Given the description of an element on the screen output the (x, y) to click on. 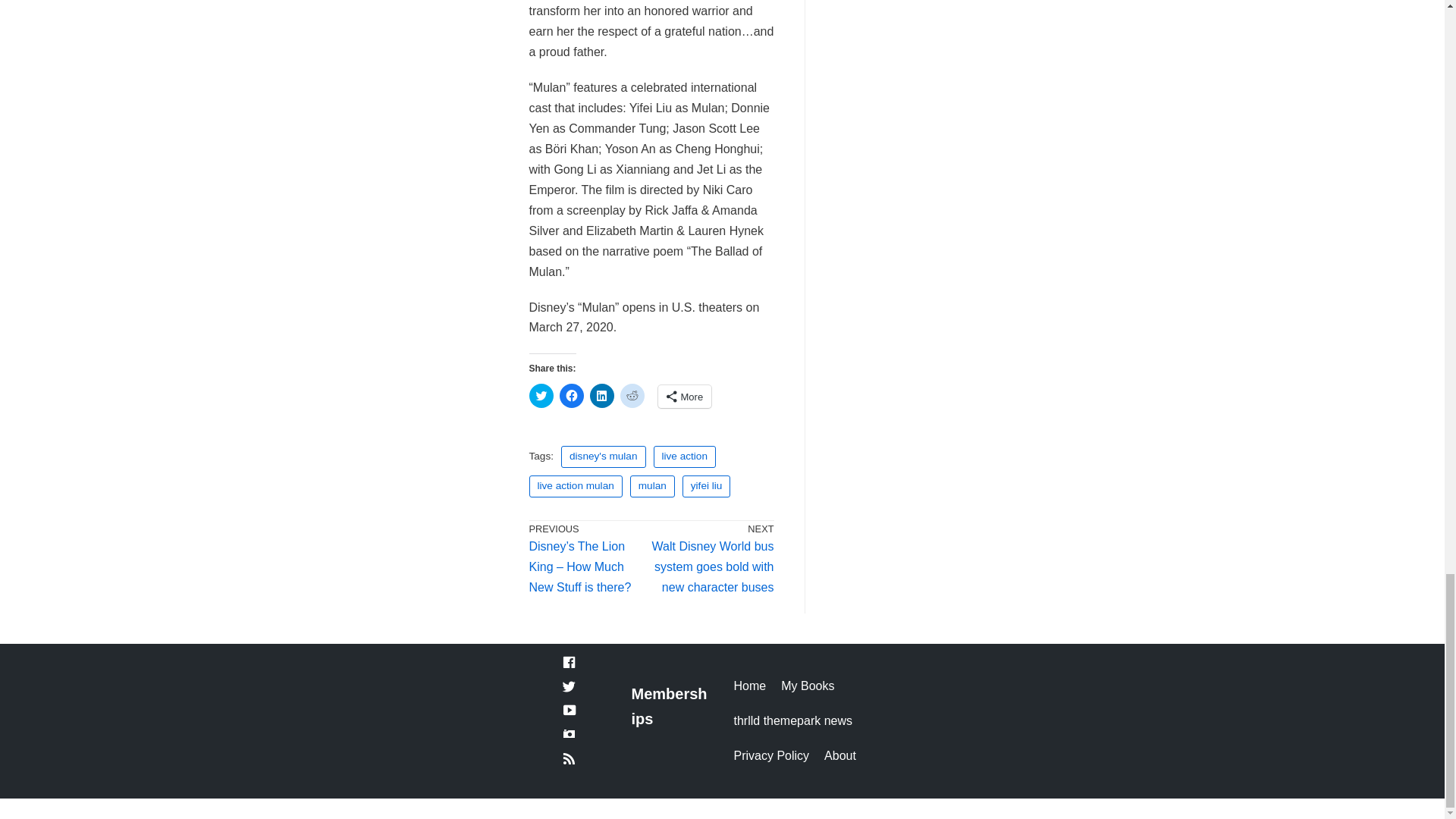
Click to share on LinkedIn (601, 395)
Click to share on Twitter (541, 395)
Click to share on Reddit (632, 395)
Click to share on Facebook (571, 395)
